Given the description of an element on the screen output the (x, y) to click on. 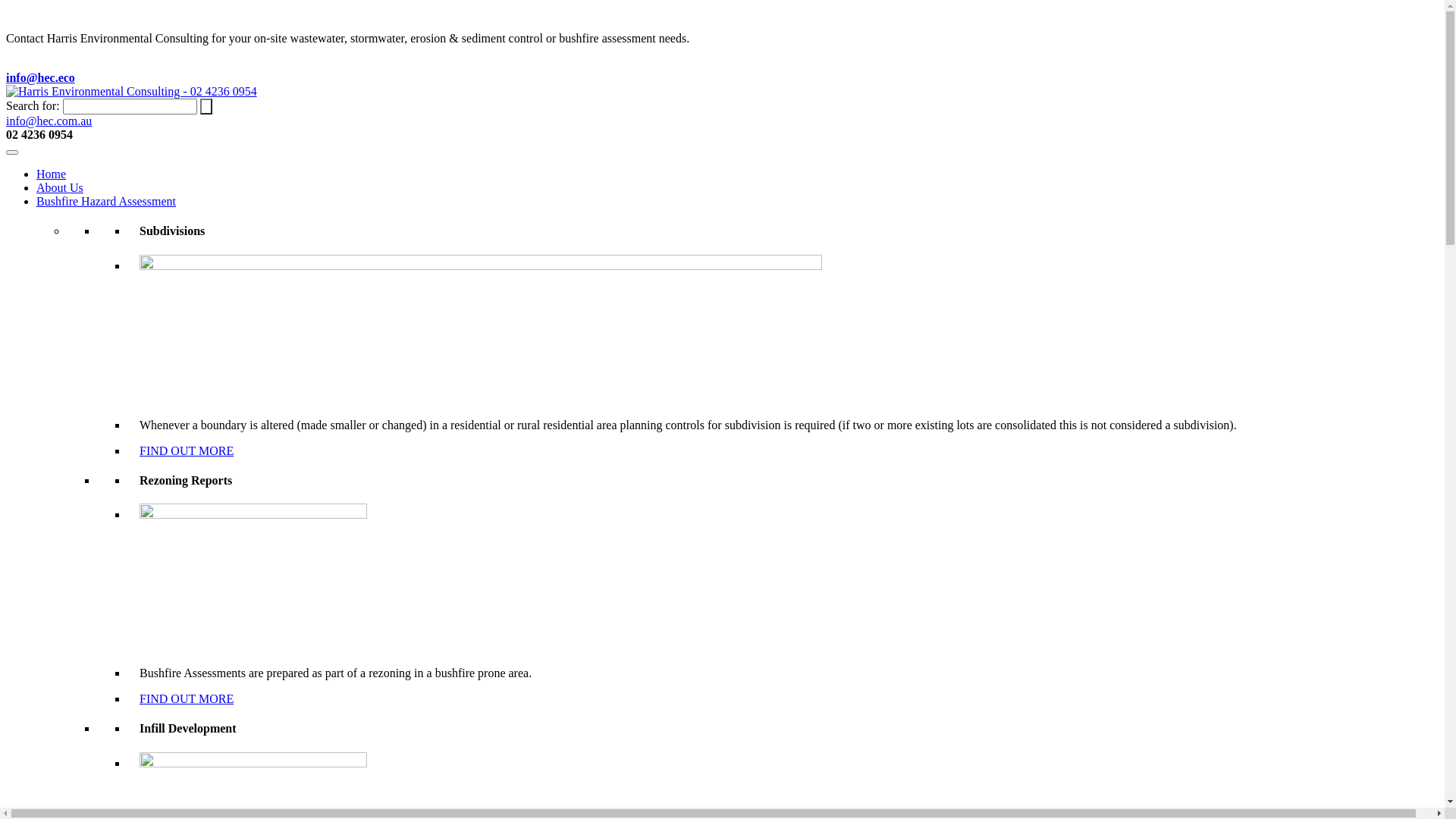
info@hec.com.au Element type: text (48, 120)
Search Element type: text (206, 106)
About Us Element type: text (59, 187)
FIND OUT MORE Element type: text (186, 450)
Bushfire Hazard Assessment Element type: text (105, 200)
info@hec.eco Element type: text (40, 77)
FIND OUT MORE Element type: text (186, 698)
Home Element type: text (50, 173)
